Given the description of an element on the screen output the (x, y) to click on. 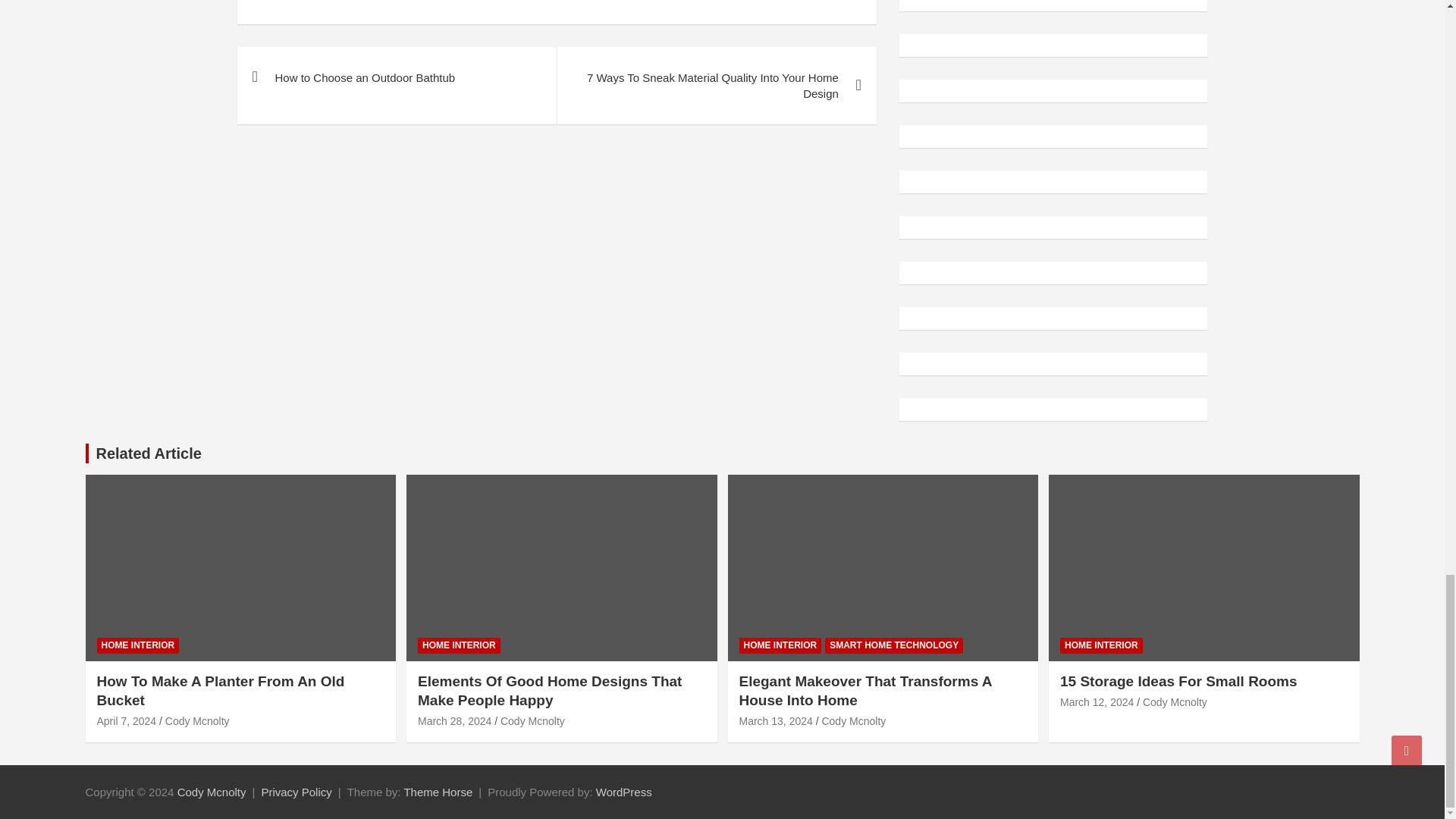
How to Choose an Outdoor Bathtub (395, 77)
7 Ways To Sneak Material Quality Into Your Home Design (716, 85)
